Given the description of an element on the screen output the (x, y) to click on. 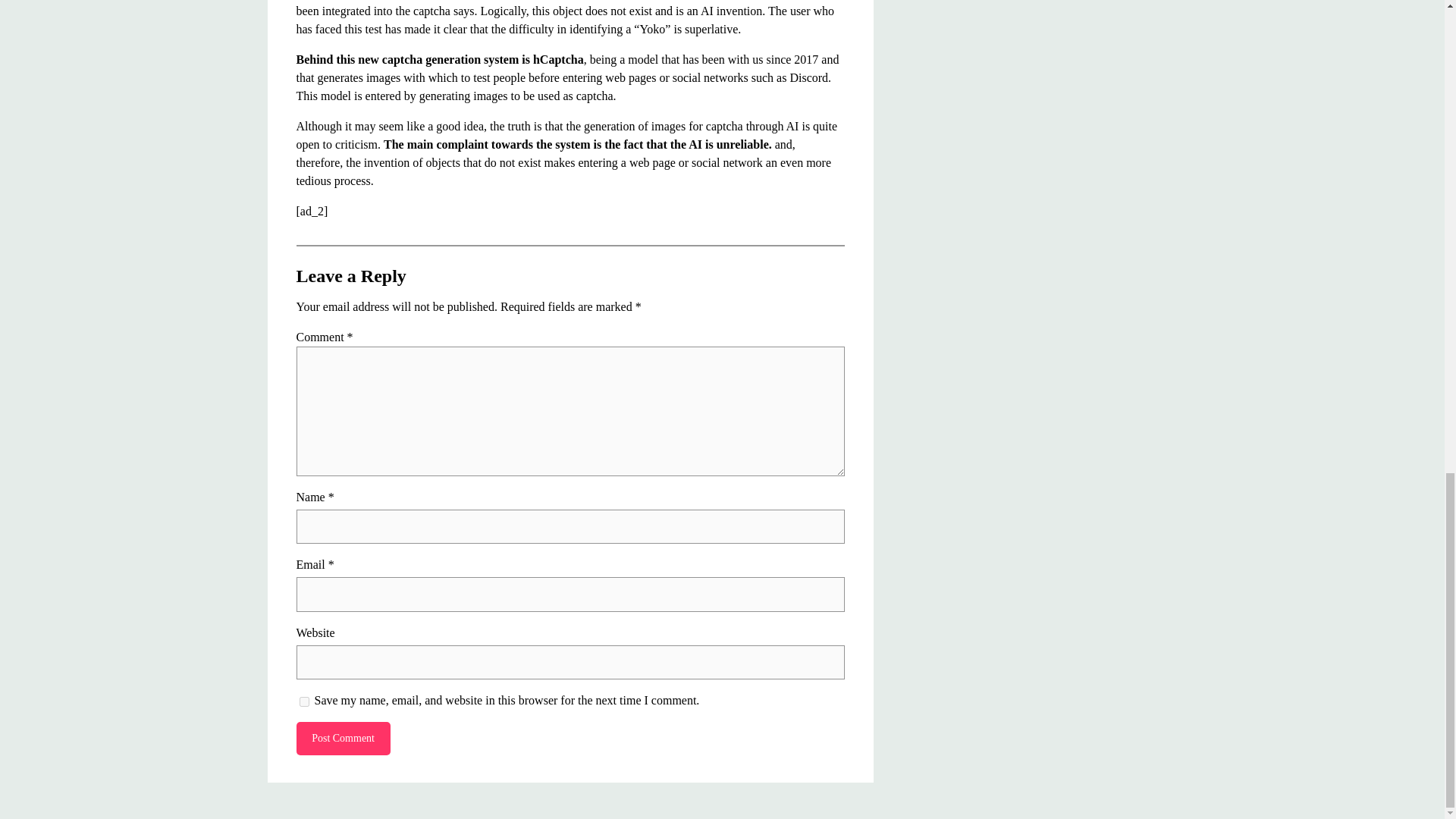
Post Comment (342, 738)
Post Comment (342, 738)
